Given the description of an element on the screen output the (x, y) to click on. 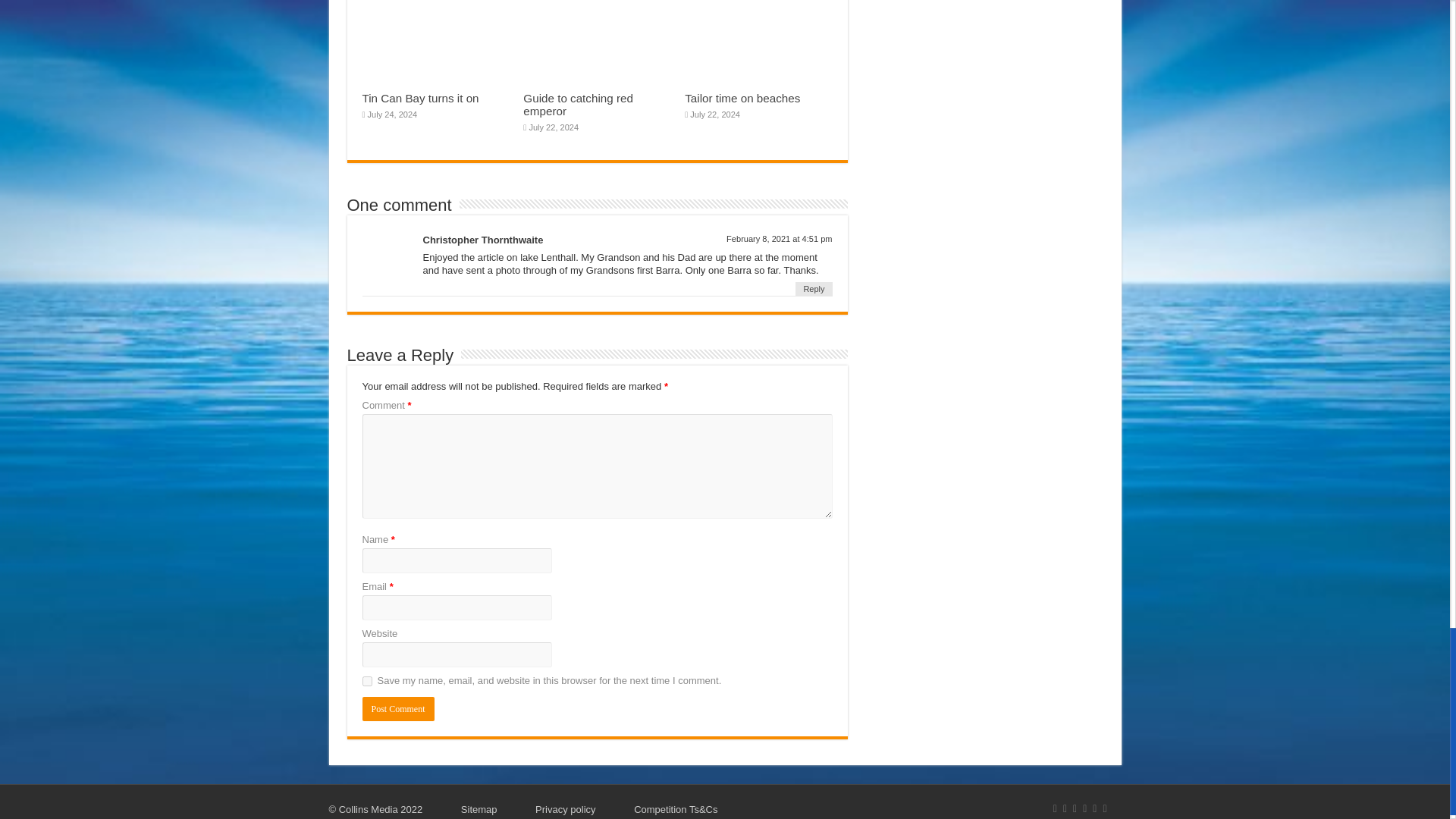
Post Comment (397, 708)
yes (367, 681)
